Given the description of an element on the screen output the (x, y) to click on. 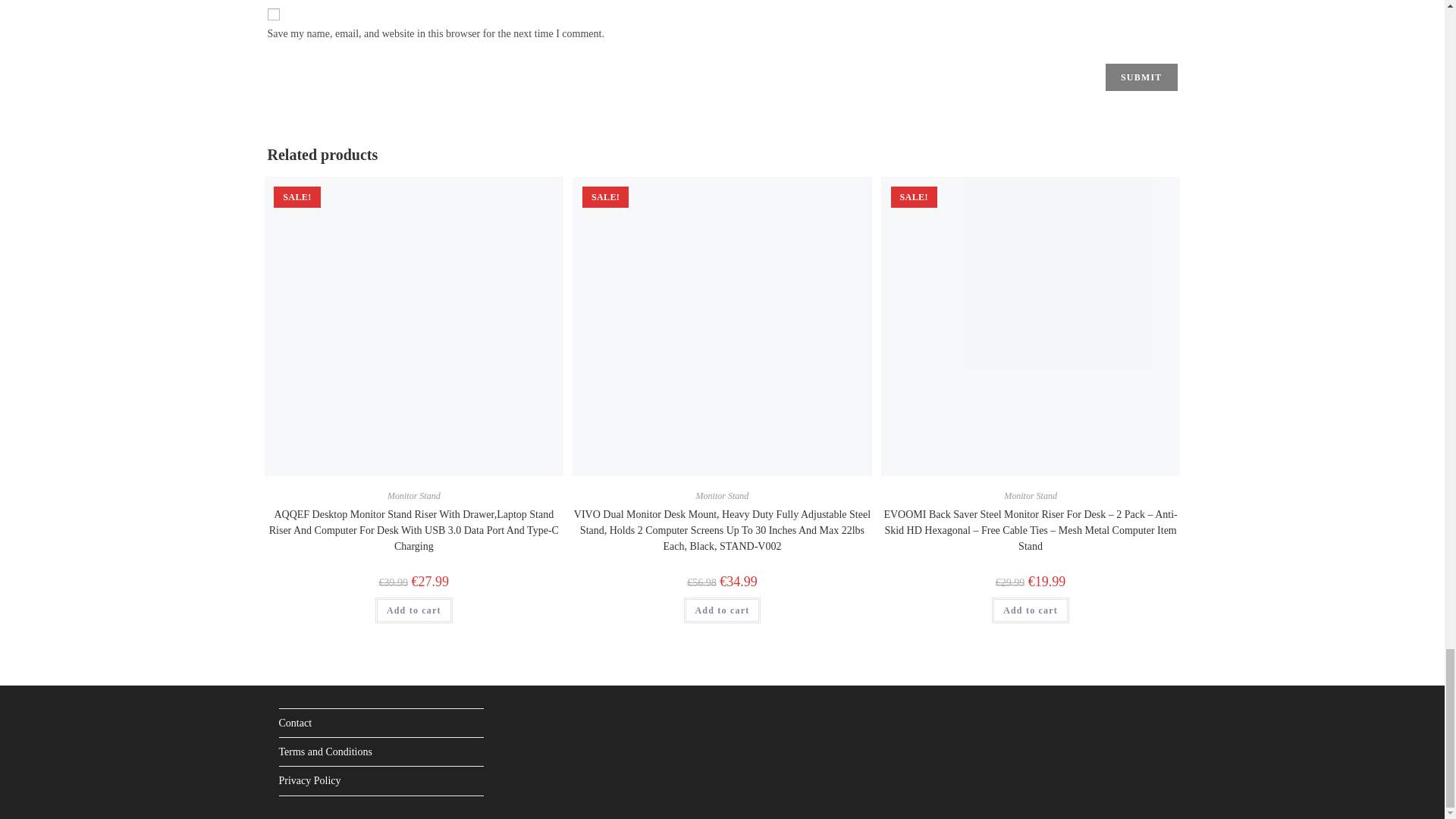
Submit (1141, 76)
Submit (1141, 76)
yes (272, 14)
